Given the description of an element on the screen output the (x, y) to click on. 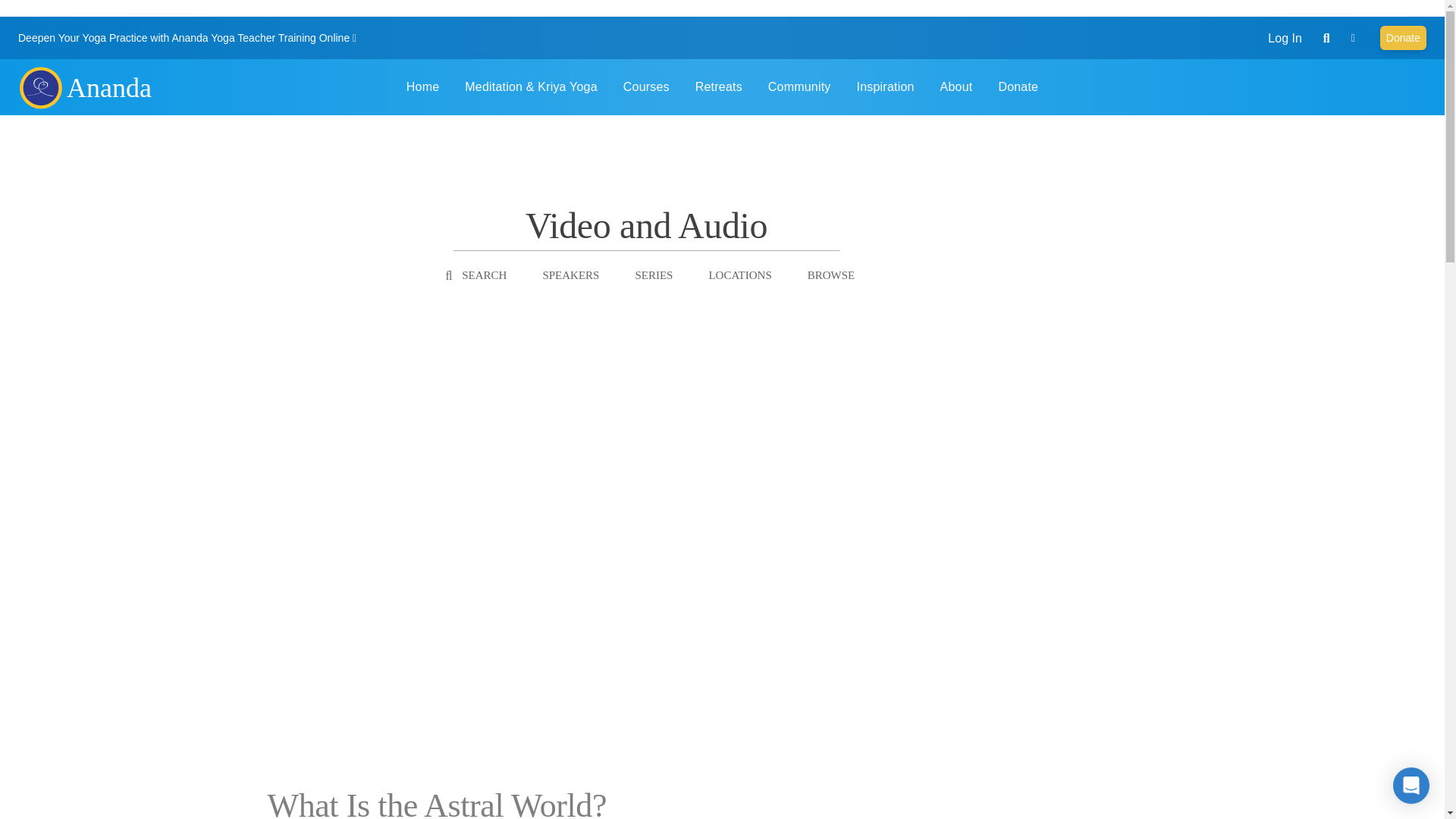
Donate (1403, 37)
Courses (646, 86)
Log In (1284, 38)
Ananda (39, 86)
Home (422, 86)
Ananda (108, 87)
Home (108, 87)
Home (39, 86)
